Given the description of an element on the screen output the (x, y) to click on. 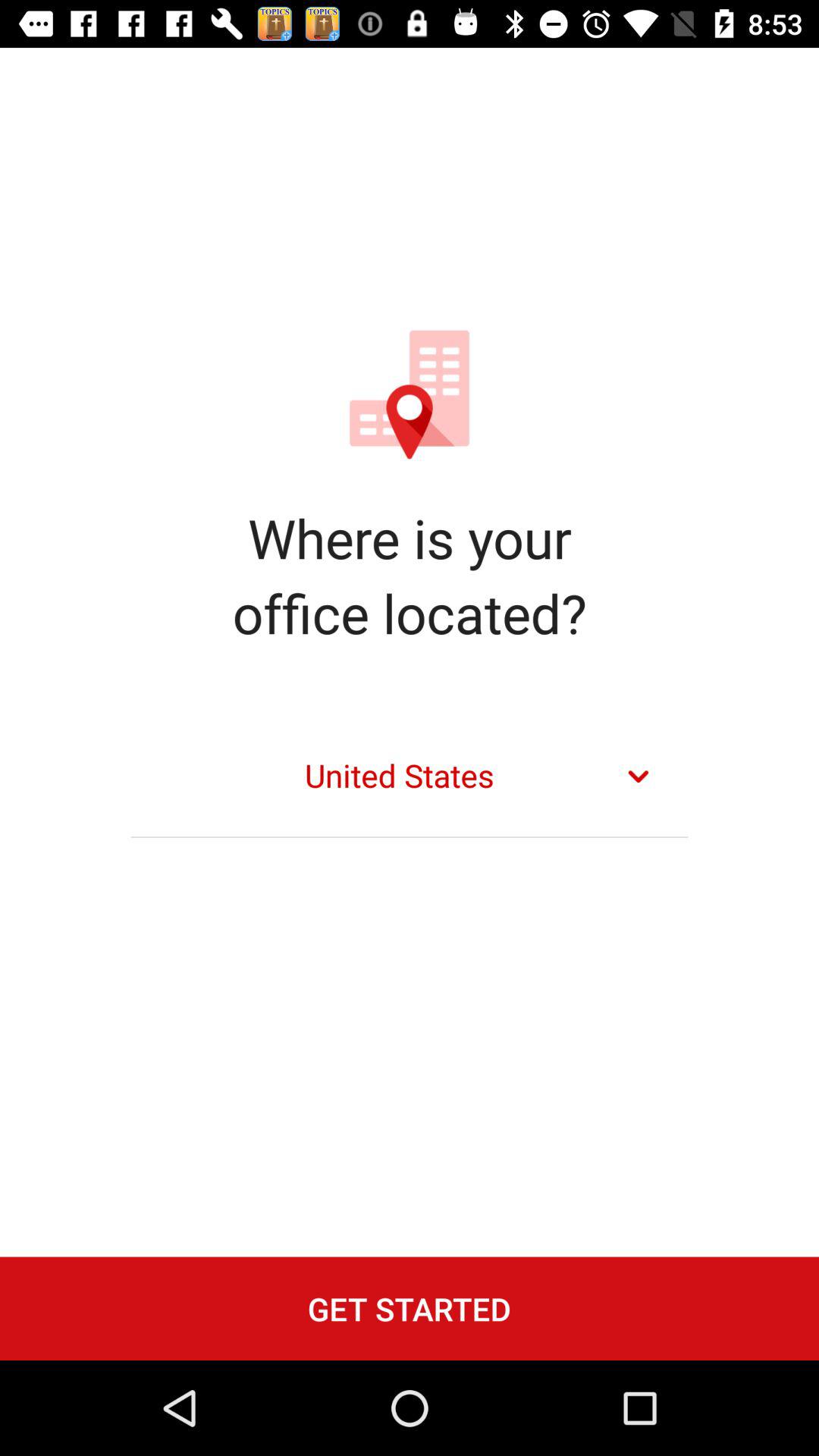
scroll until united states (409, 776)
